Given the description of an element on the screen output the (x, y) to click on. 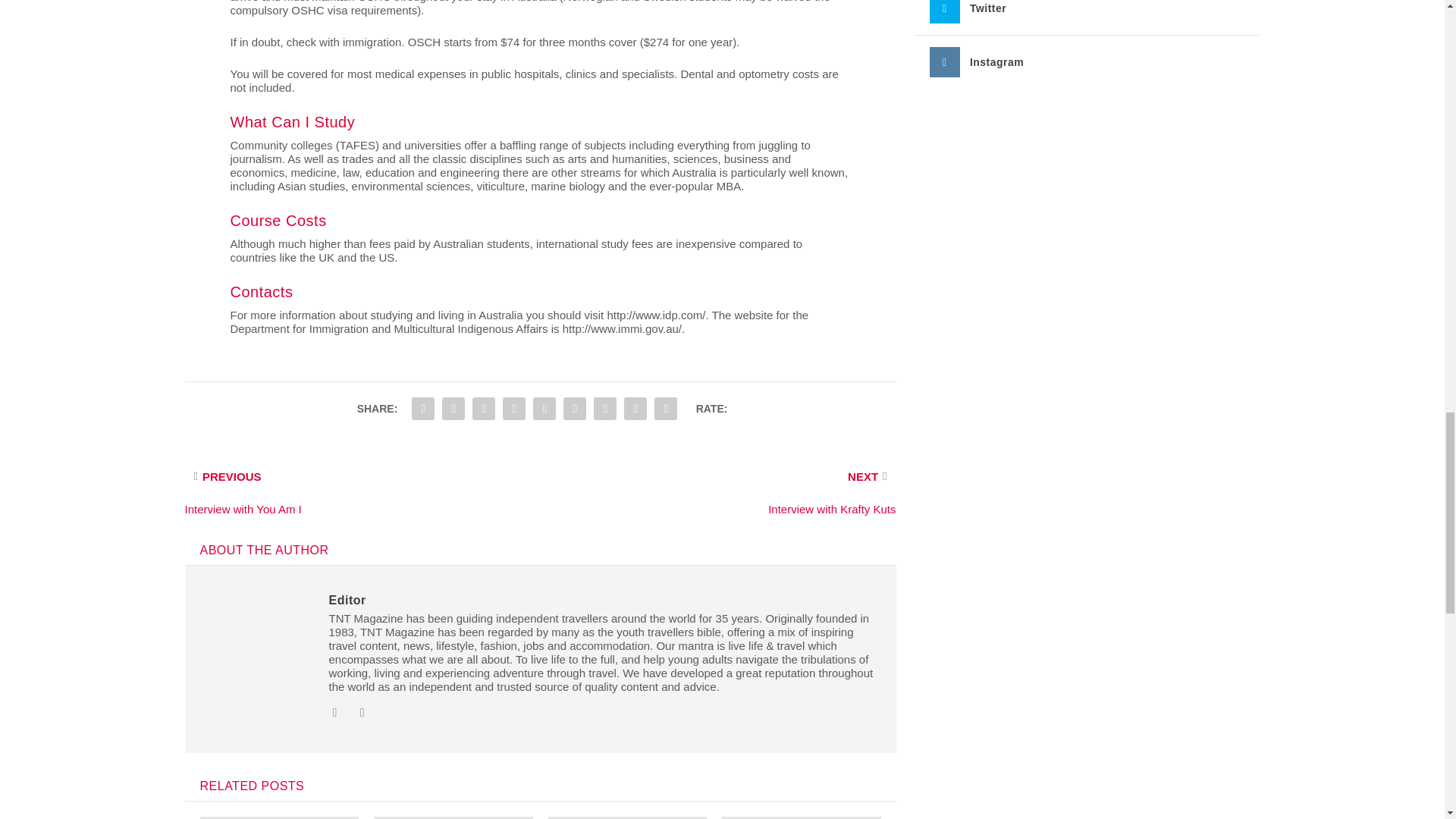
Share "Studying in Australia" via Facebook (422, 408)
Share "Studying in Australia" via Pinterest (514, 408)
Share "Studying in Australia" via Email (635, 408)
Share "Studying in Australia" via Buffer (574, 408)
Share "Studying in Australia" via Twitter (453, 408)
Share "Studying in Australia" via Tumblr (483, 408)
Share "Studying in Australia" via LinkedIn (544, 408)
Share "Studying in Australia" via Stumbleupon (604, 408)
Editor (347, 599)
